Given the description of an element on the screen output the (x, y) to click on. 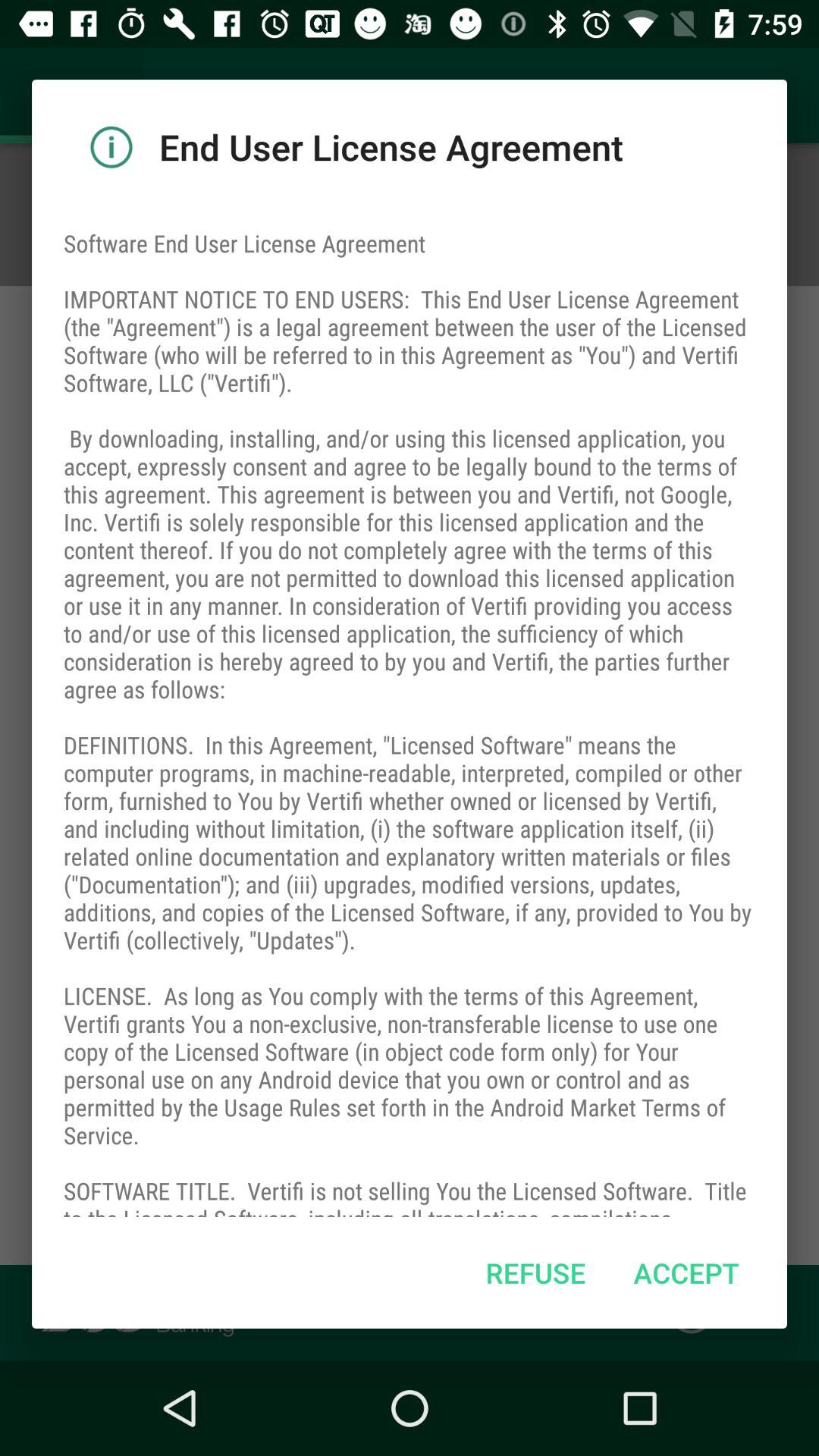
tap refuse item (535, 1272)
